Given the description of an element on the screen output the (x, y) to click on. 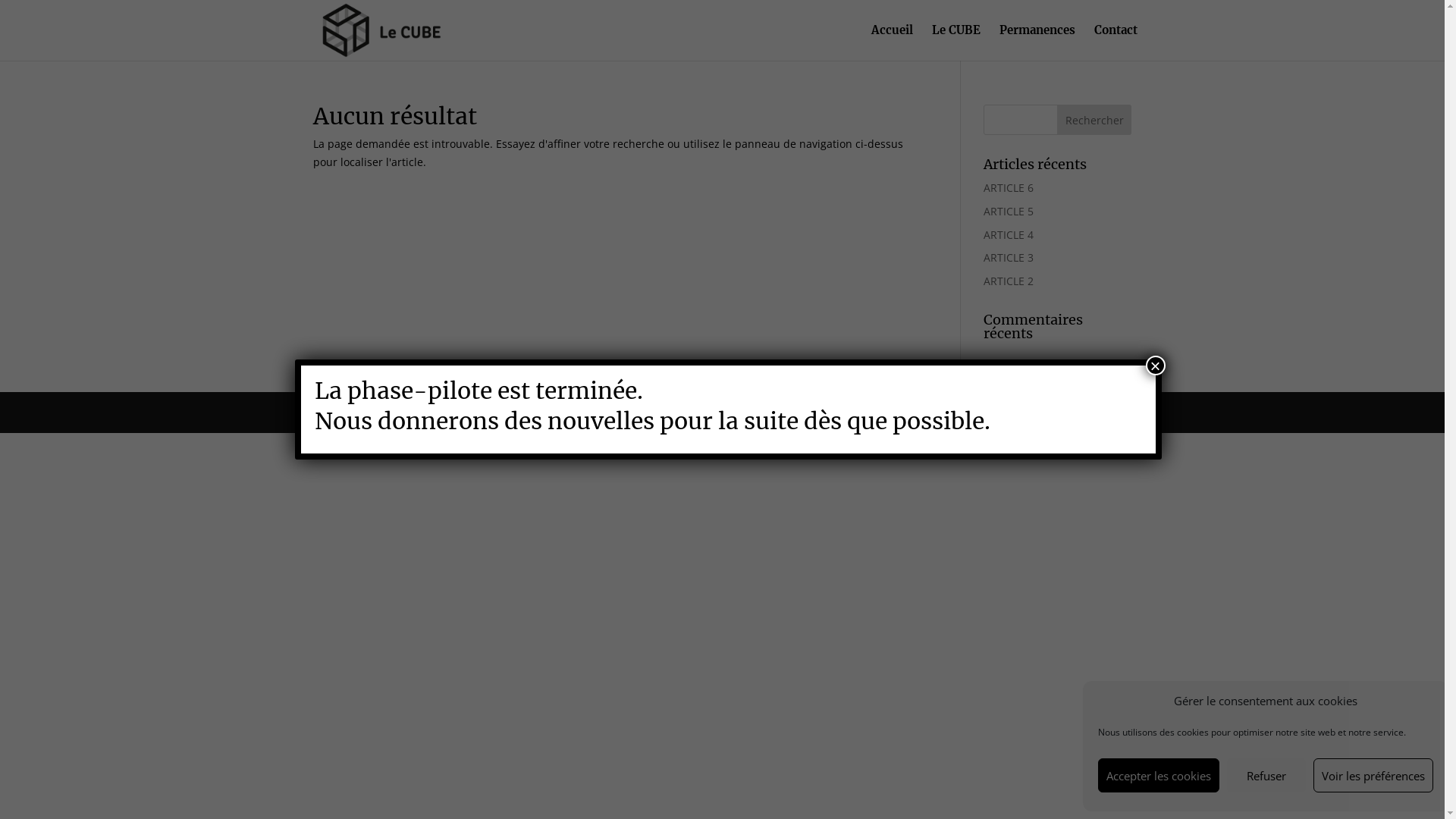
Le CUBE Element type: text (955, 42)
Permanences Element type: text (1037, 42)
Accueil Element type: text (892, 42)
ARTICLE 6 Element type: text (1008, 187)
Infomaniak Element type: text (547, 411)
Mr. design Element type: text (407, 411)
ARTICLE 4 Element type: text (1008, 234)
Refuser Element type: text (1265, 775)
Rechercher Element type: text (1094, 119)
ARTICLE 3 Element type: text (1008, 257)
ARTICLE 2 Element type: text (1008, 280)
Accepter les cookies Element type: text (1158, 775)
ARTICLE 5 Element type: text (1008, 210)
Contact Element type: text (1115, 42)
